Given the description of an element on the screen output the (x, y) to click on. 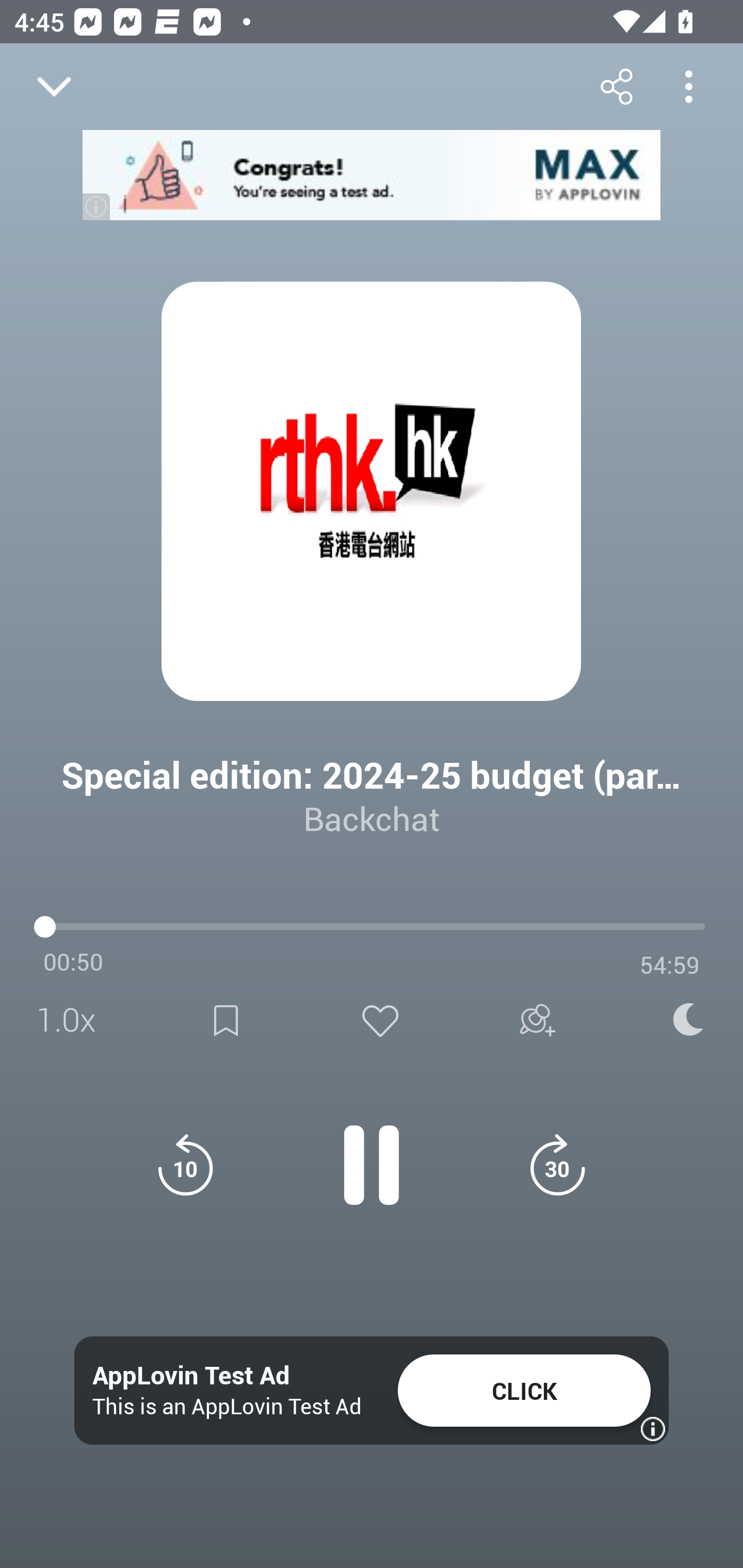
Close fullscreen player (54, 86)
Share (616, 86)
More options (688, 86)
app-monetization (371, 175)
(i) (96, 206)
Special edition: 2024-25 budget (part 1) Backchat (371, 780)
Backchat (371, 818)
Open series Backchat (93, 994)
54:59 (669, 964)
1.0x Speed (72, 1020)
Like (380, 1020)
Pause button (371, 1153)
Jump back (185, 1164)
Jump forward (557, 1164)
CLICK (523, 1390)
AppLovin Test Ad (191, 1375)
This is an AppLovin Test Ad (226, 1406)
